Given the description of an element on the screen output the (x, y) to click on. 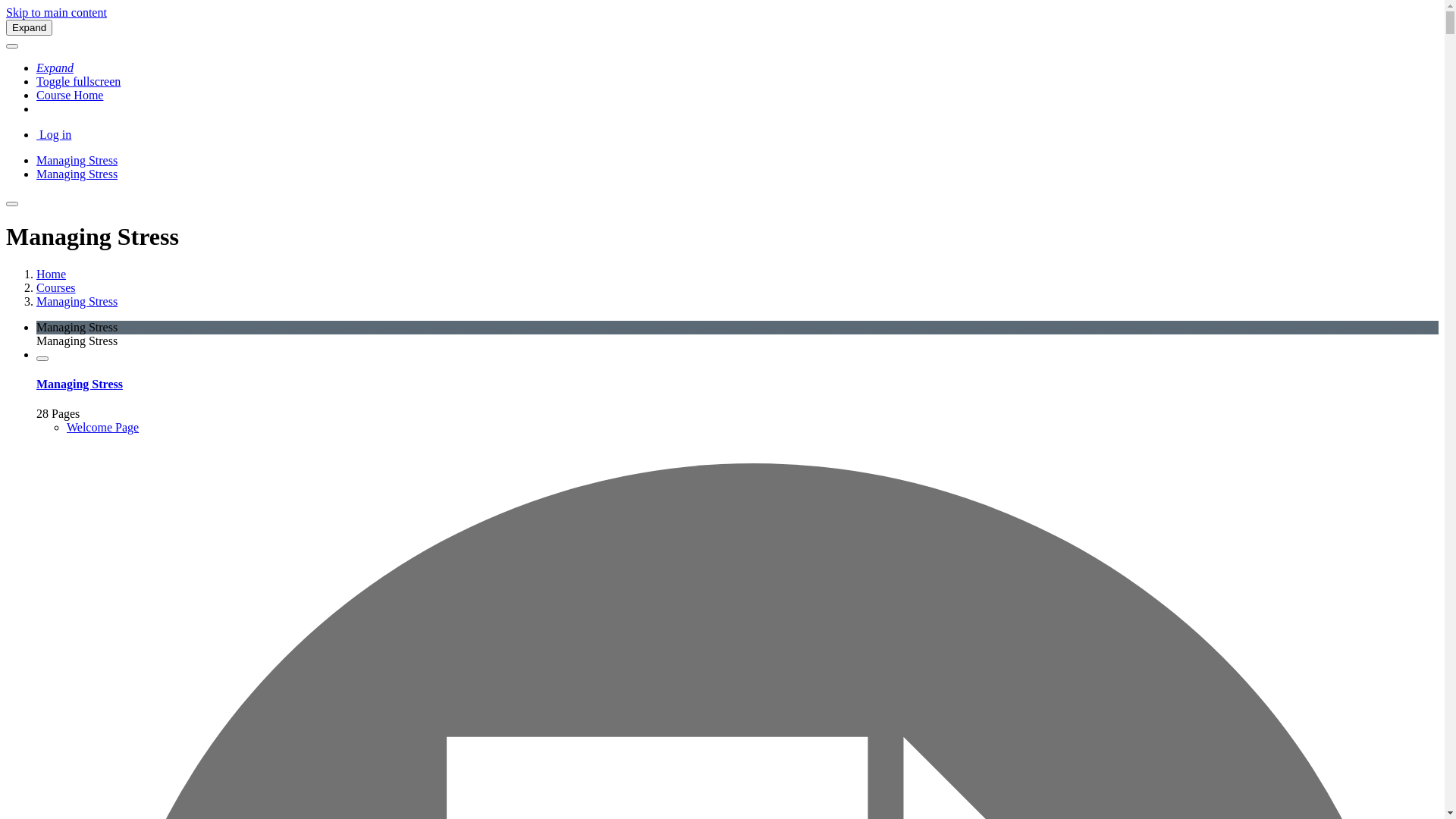
Welcome Page Element type: text (102, 426)
Course Home Element type: text (69, 94)
 Log in Element type: text (53, 134)
Expand Element type: text (29, 27)
Home Element type: text (50, 273)
Managing Stress Element type: text (76, 173)
Courses Element type: text (55, 287)
Managing Stress Element type: text (76, 300)
Managing Stress Element type: text (76, 159)
Managing Stress Element type: text (79, 383)
Expand Element type: text (54, 67)
Skip to main content Element type: text (56, 12)
Toggle fullscreen Element type: text (78, 81)
